Given the description of an element on the screen output the (x, y) to click on. 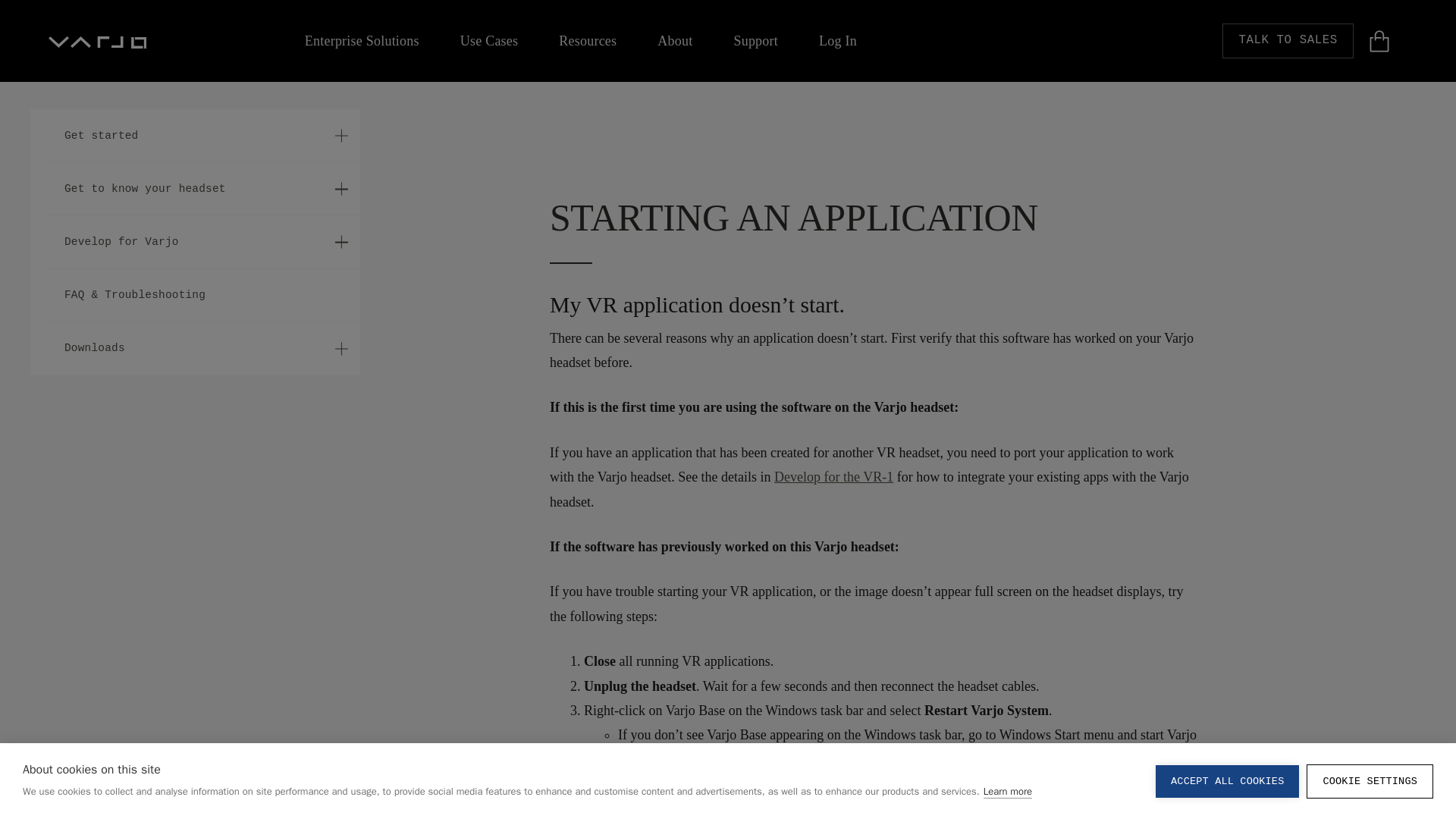
COOKIE SETTINGS (1369, 811)
Enterprise Solutions (361, 40)
